Given the description of an element on the screen output the (x, y) to click on. 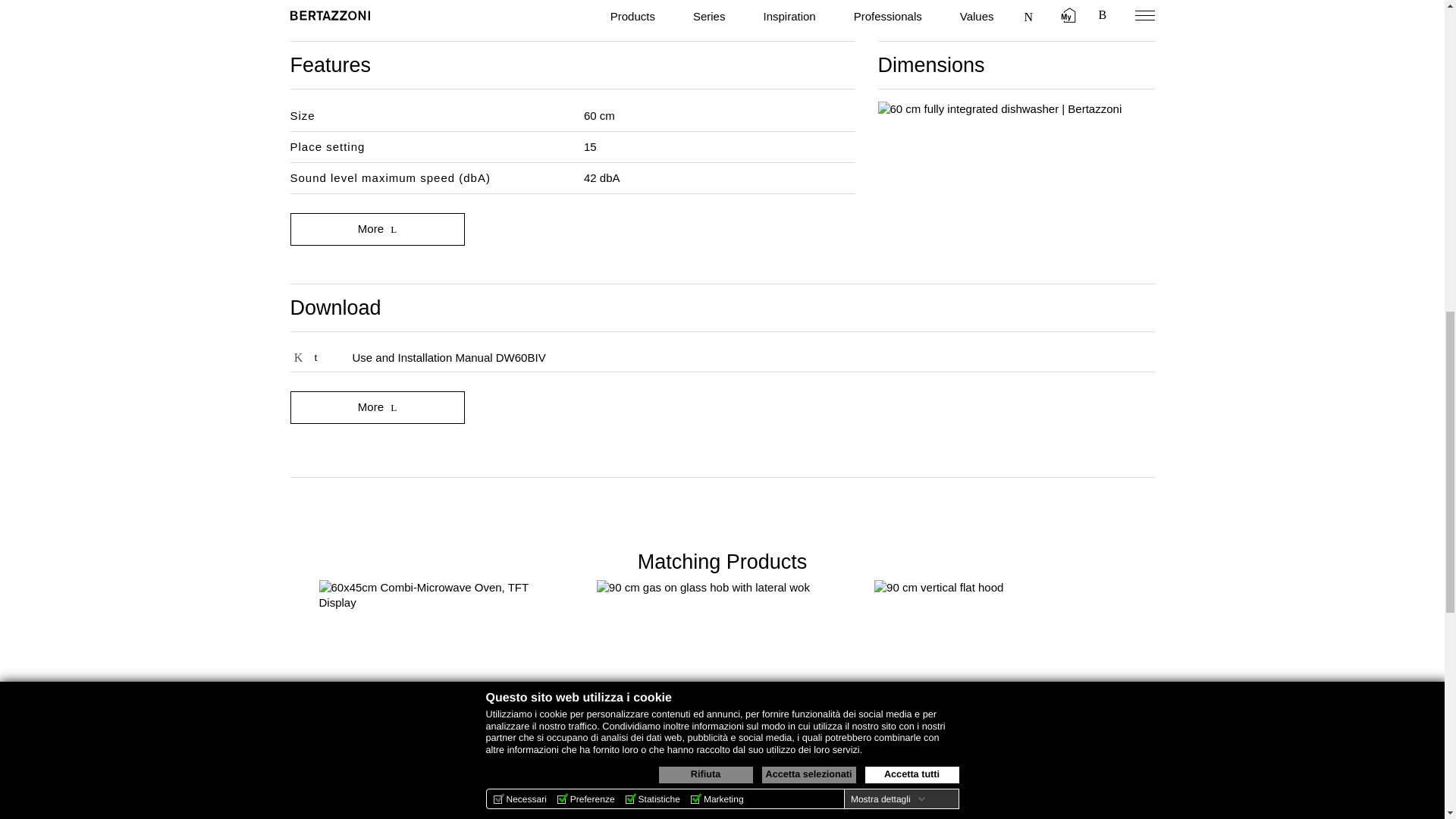
3725 (297, 357)
